Given the description of an element on the screen output the (x, y) to click on. 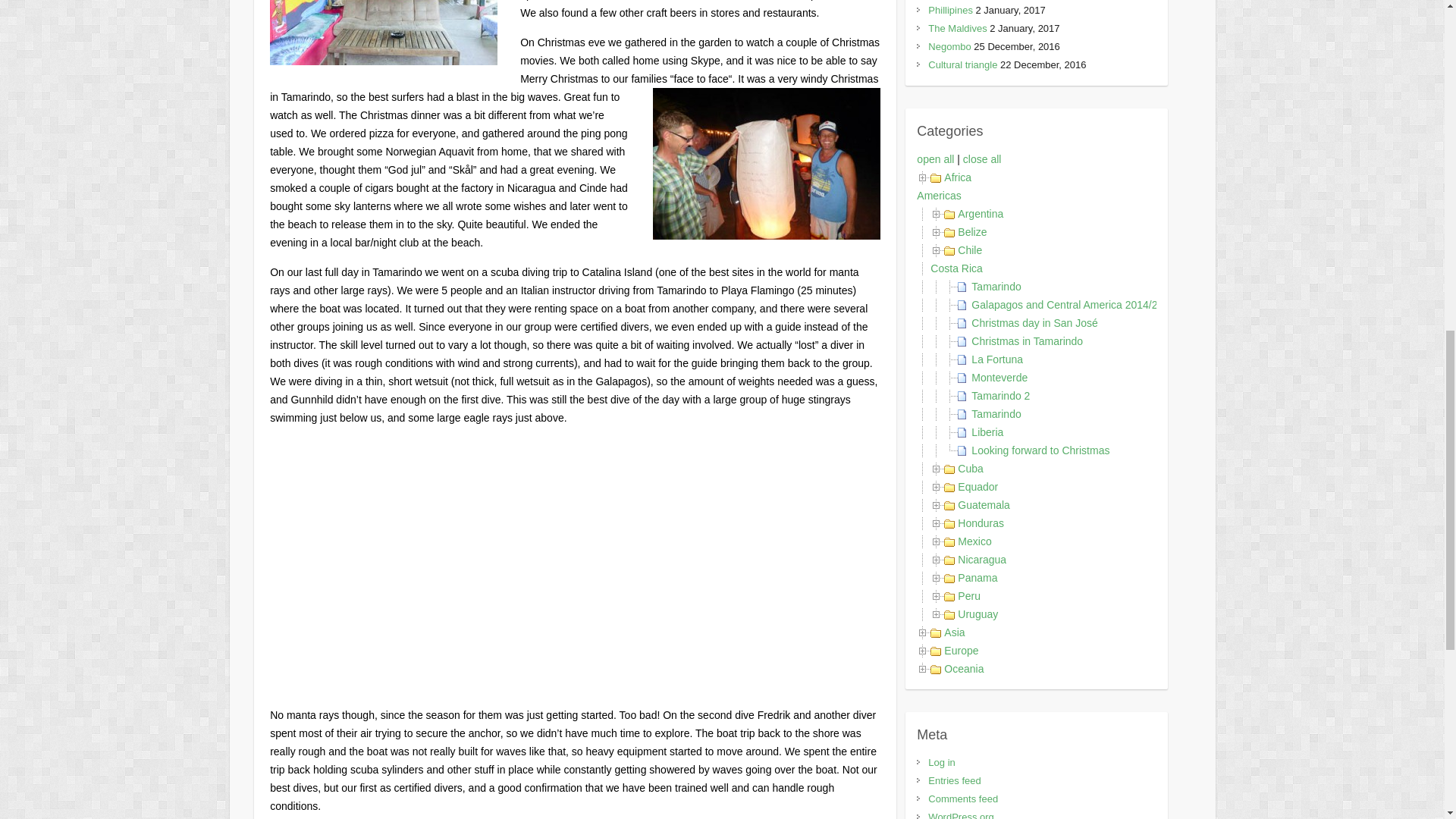
open all (935, 159)
Travel in Africa (957, 177)
close all (981, 159)
